Given the description of an element on the screen output the (x, y) to click on. 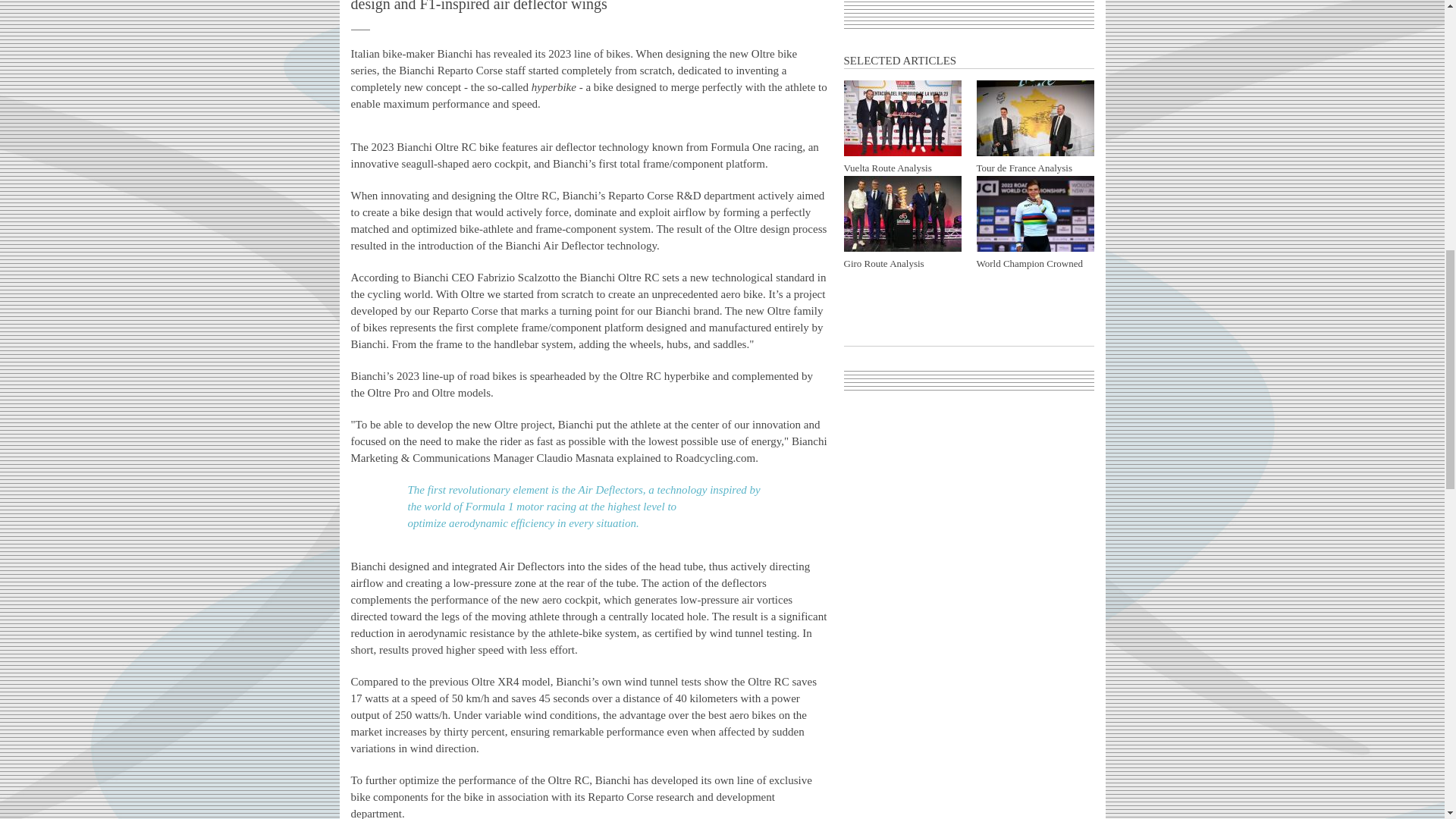
Advertisement (969, 9)
